Given the description of an element on the screen output the (x, y) to click on. 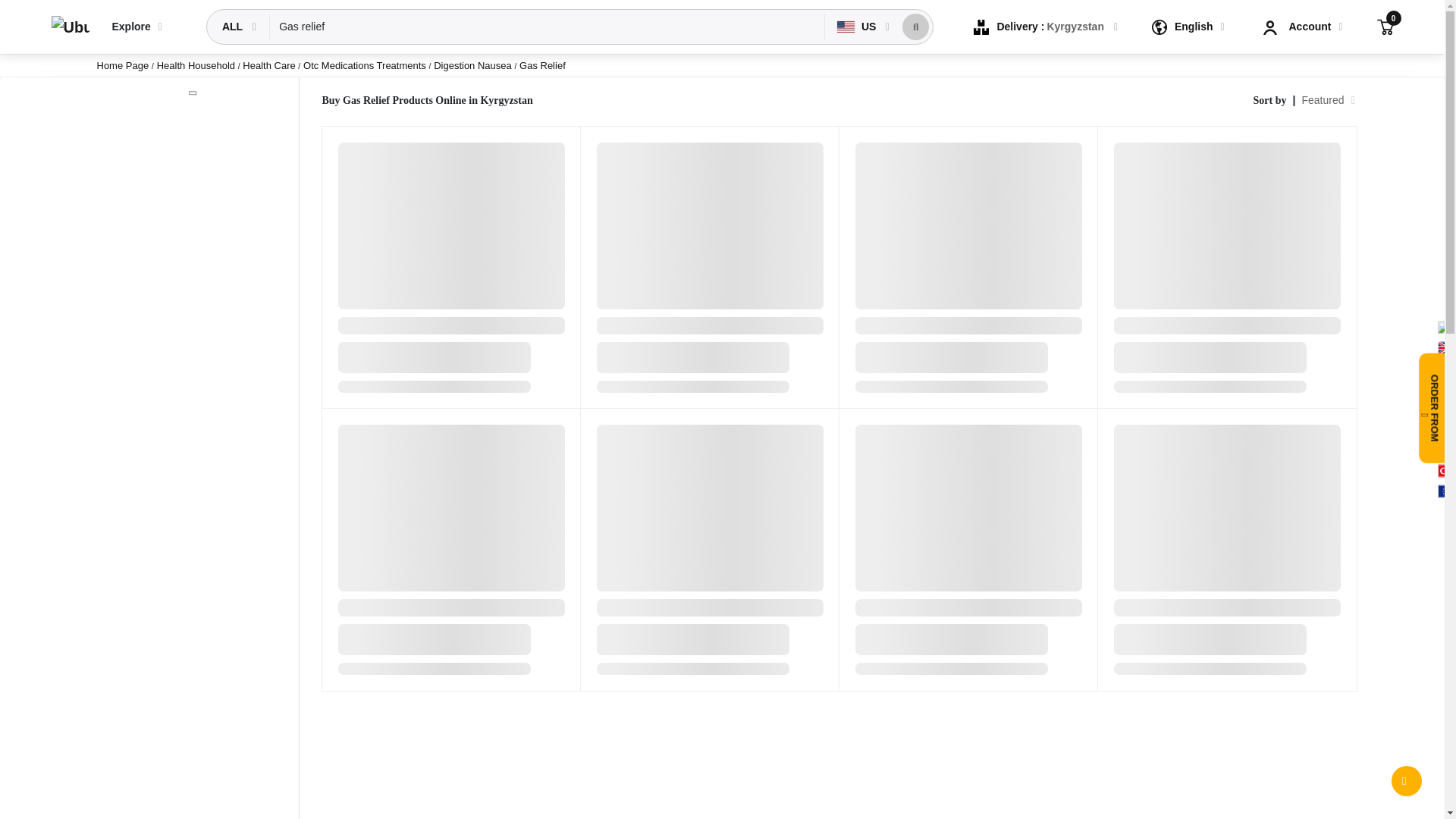
Gas relief (547, 26)
ALL (234, 26)
0 (1385, 26)
US (858, 26)
Ubuy (69, 27)
